Given the description of an element on the screen output the (x, y) to click on. 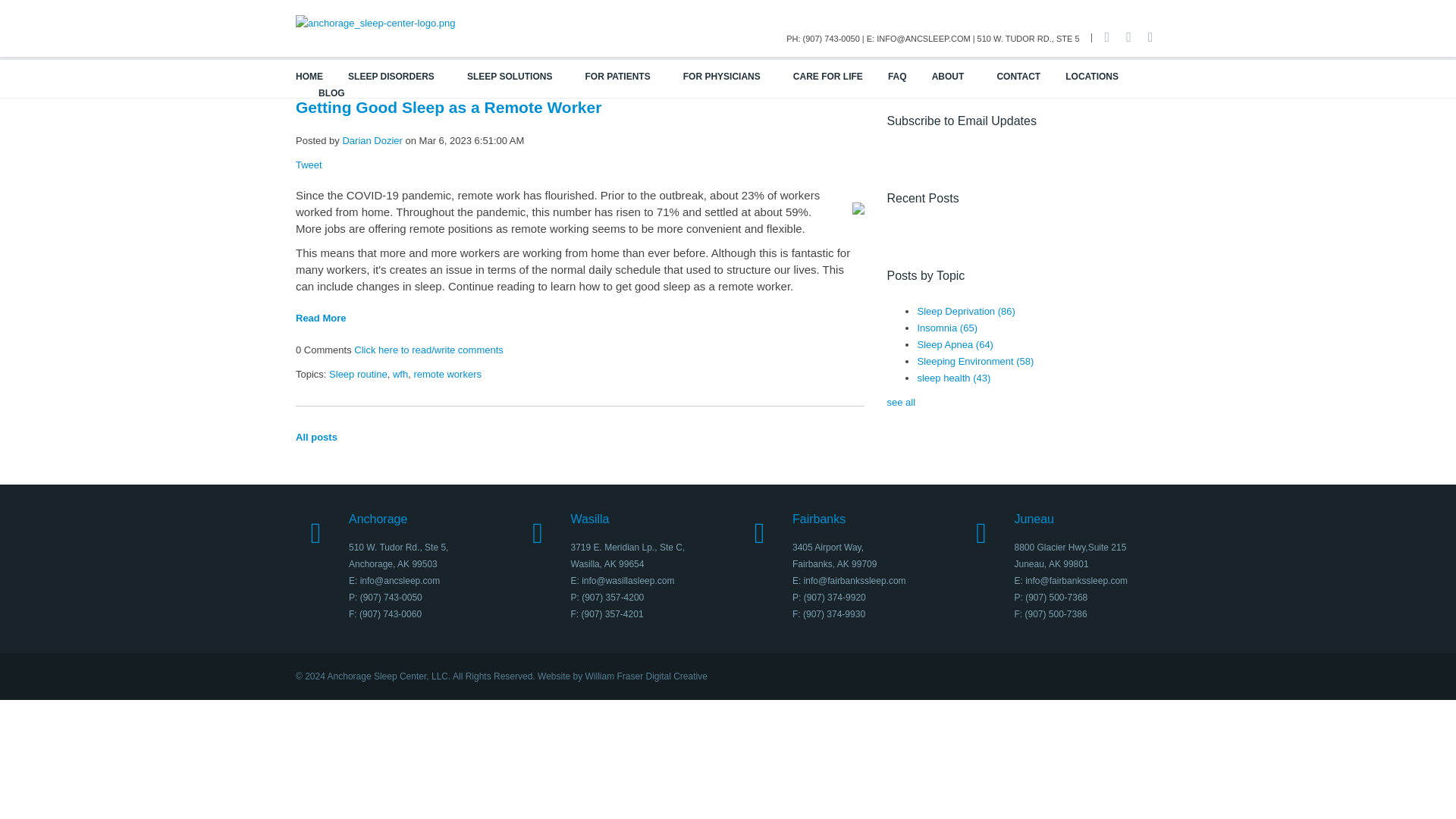
Darian Dozier (371, 140)
SLEEP DISORDERS (398, 76)
ABOUT (955, 76)
BLOG (331, 93)
Tweet (308, 164)
Getting Good Sleep as a Remote Worker (448, 107)
CARE FOR LIFE (828, 76)
FOR PHYSICIANS (729, 76)
remote workers (447, 374)
CONTACT (1018, 76)
